Given the description of an element on the screen output the (x, y) to click on. 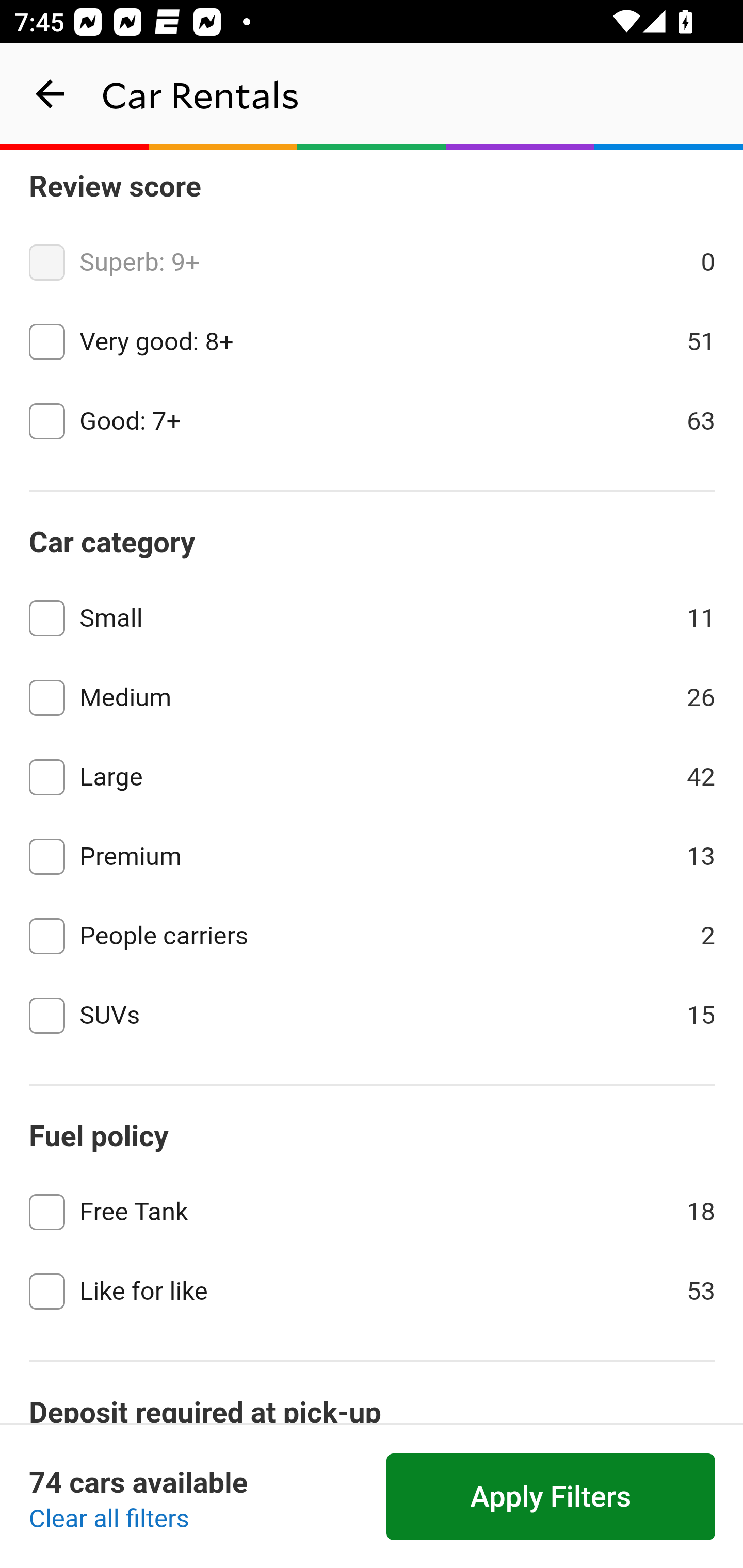
navigation_button (50, 93)
Apply Filters (551, 1497)
Clear all filters (108, 1519)
